Given the description of an element on the screen output the (x, y) to click on. 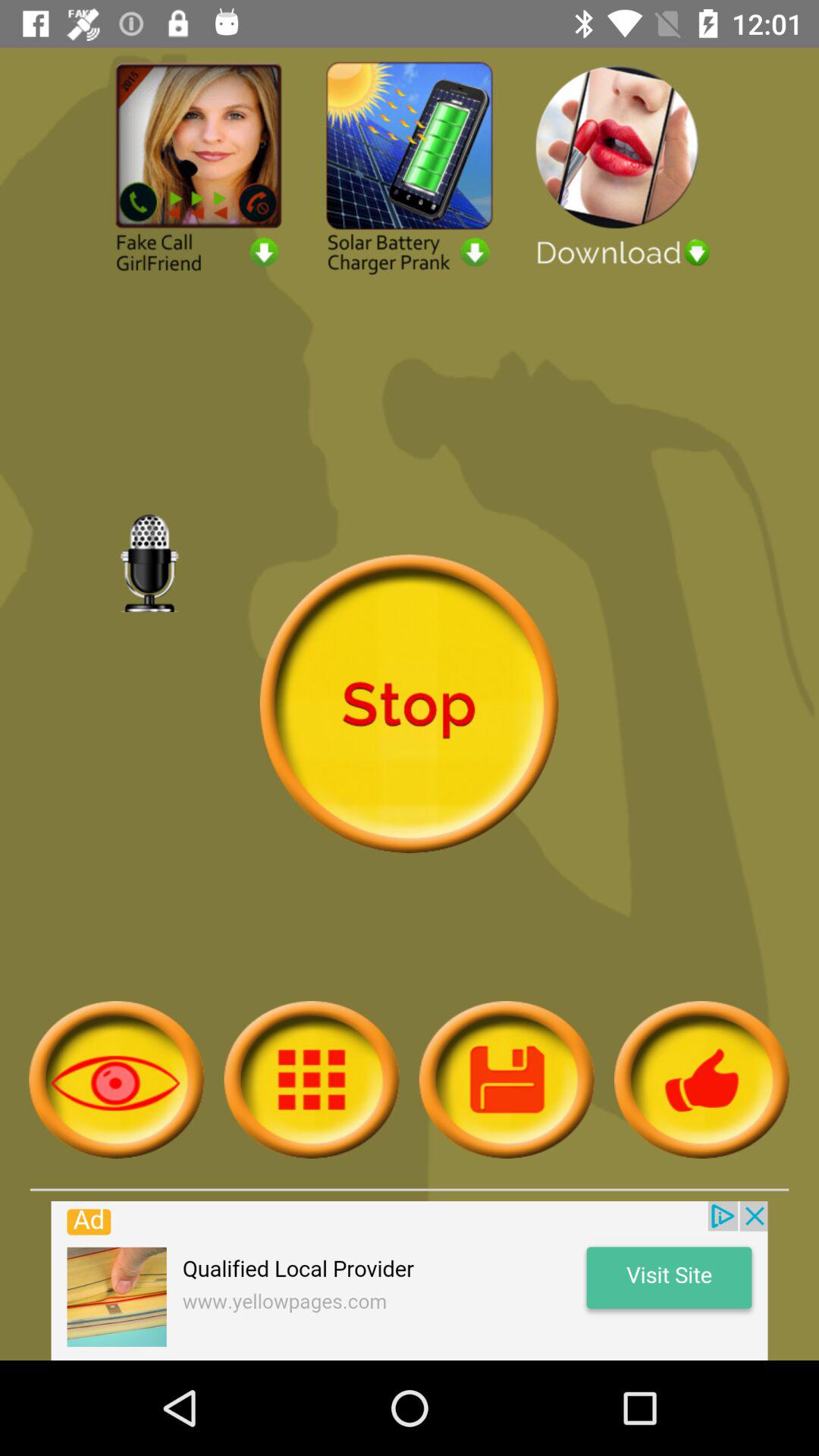
thumbs up (701, 1079)
